Given the description of an element on the screen output the (x, y) to click on. 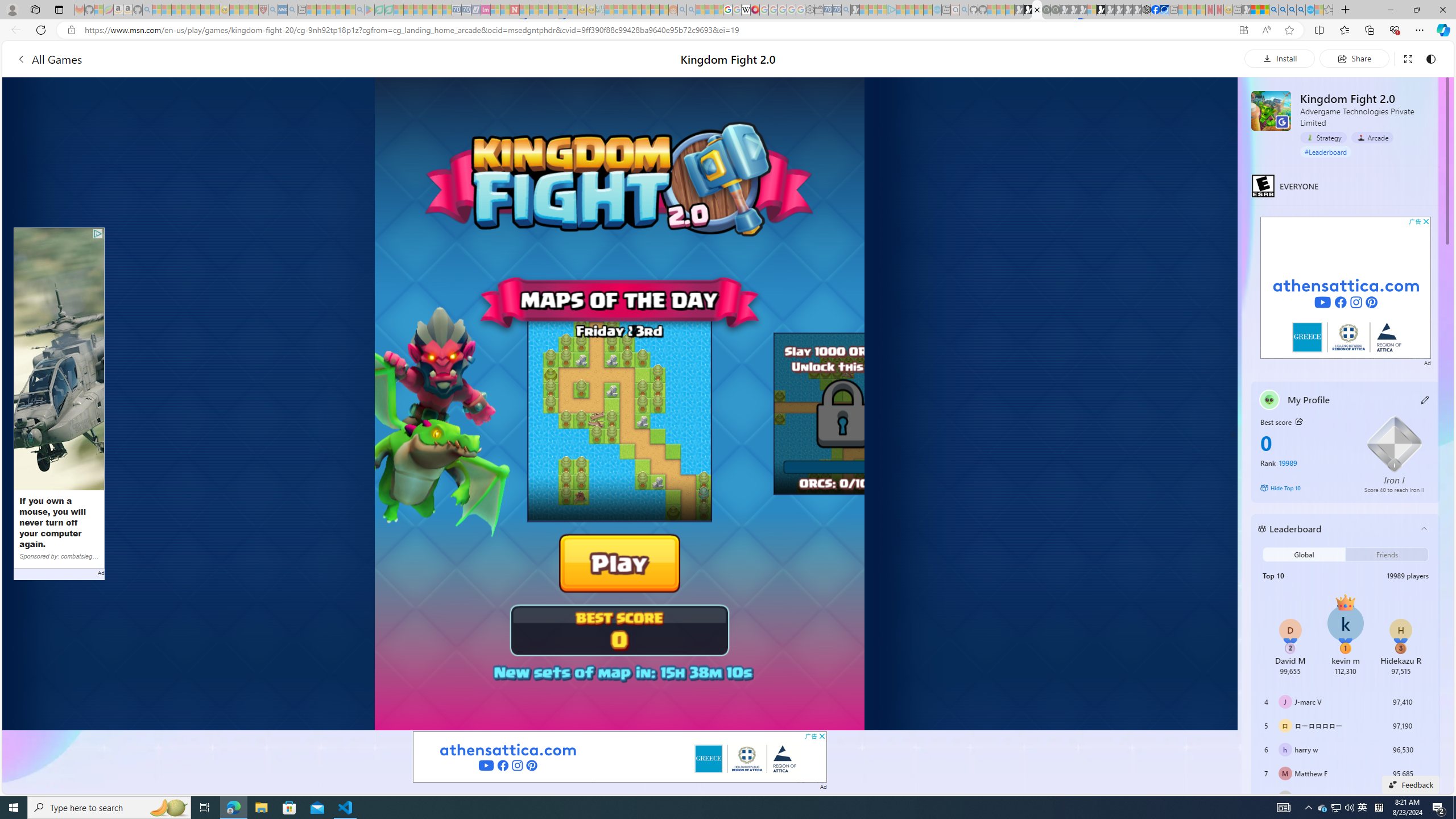
2009 Bing officially replaced Live Search on June 3 - Search (1283, 9)
Kingdom Fight 2.0 (1270, 110)
Play Zoo Boom in your browser | Games from Microsoft Start (1027, 9)
Install (1279, 58)
EVERYONE (1262, 185)
""'s avatar (1269, 399)
Advertisement (1345, 287)
DITOGAMES AG Imprint - Sleeping (600, 9)
Class: button edit-icon (1425, 399)
